Given the description of an element on the screen output the (x, y) to click on. 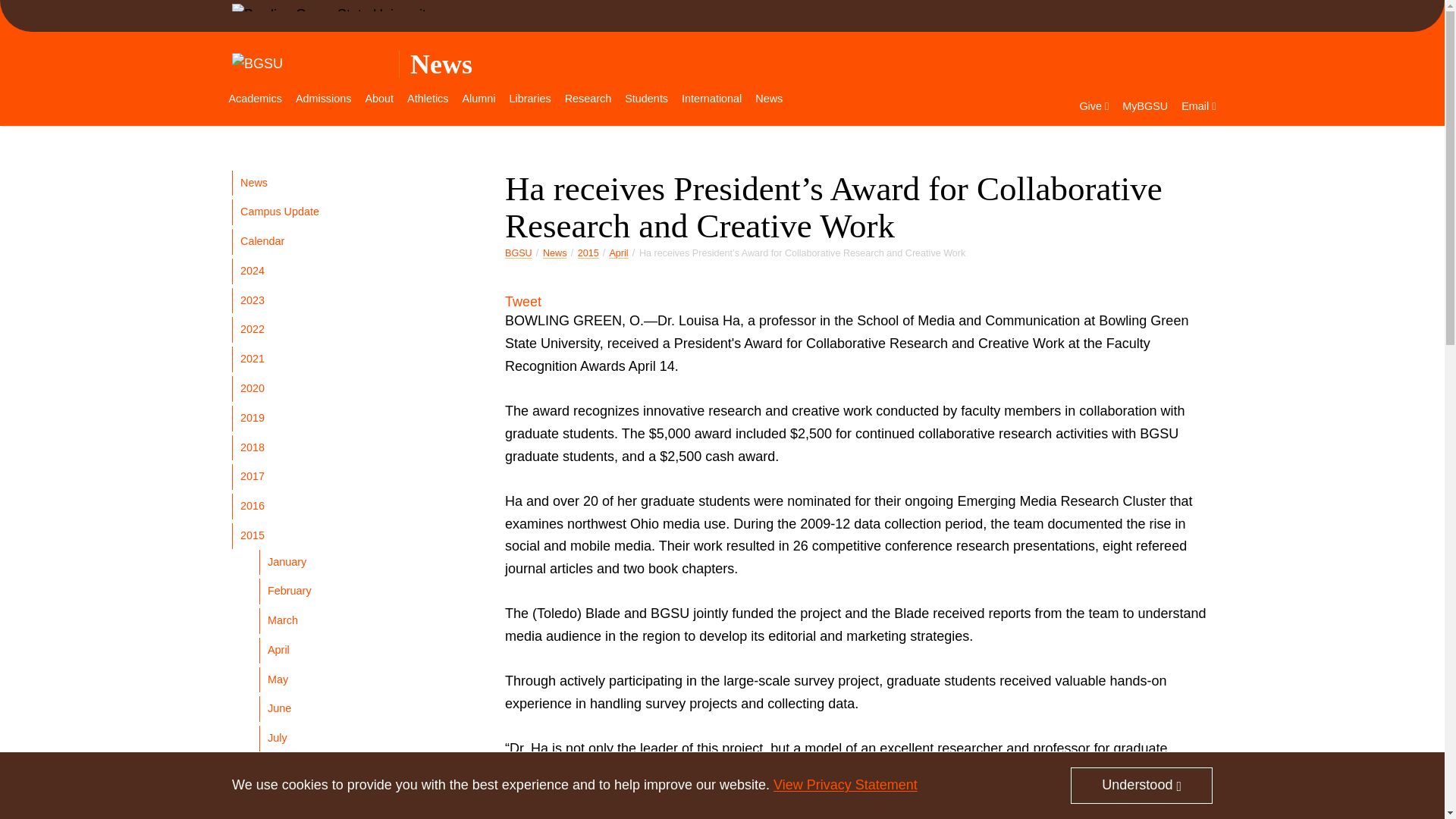
View Privacy Statement (845, 784)
News (440, 64)
Understood  (1141, 785)
